Given the description of an element on the screen output the (x, y) to click on. 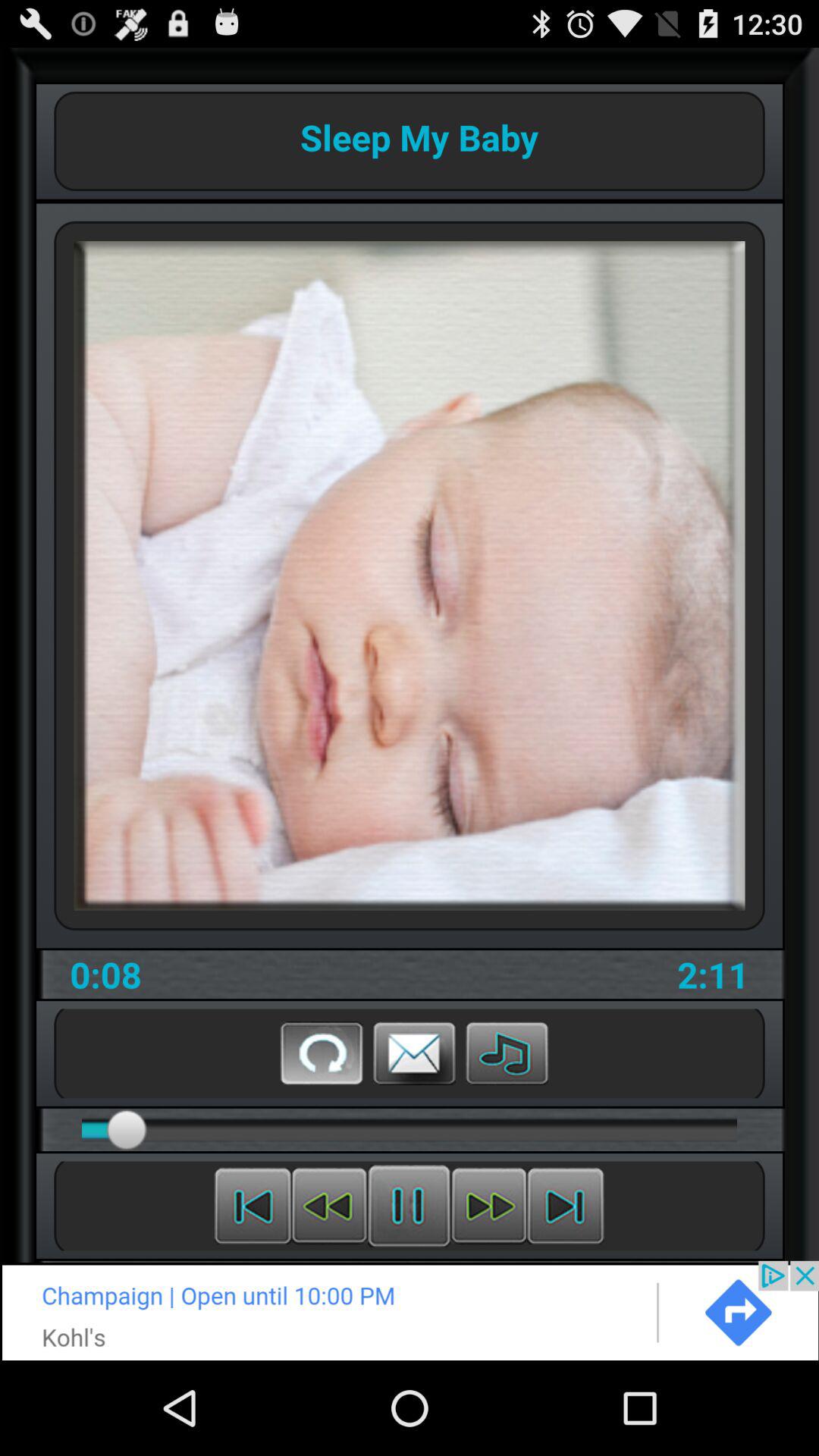
pause (408, 1205)
